Given the description of an element on the screen output the (x, y) to click on. 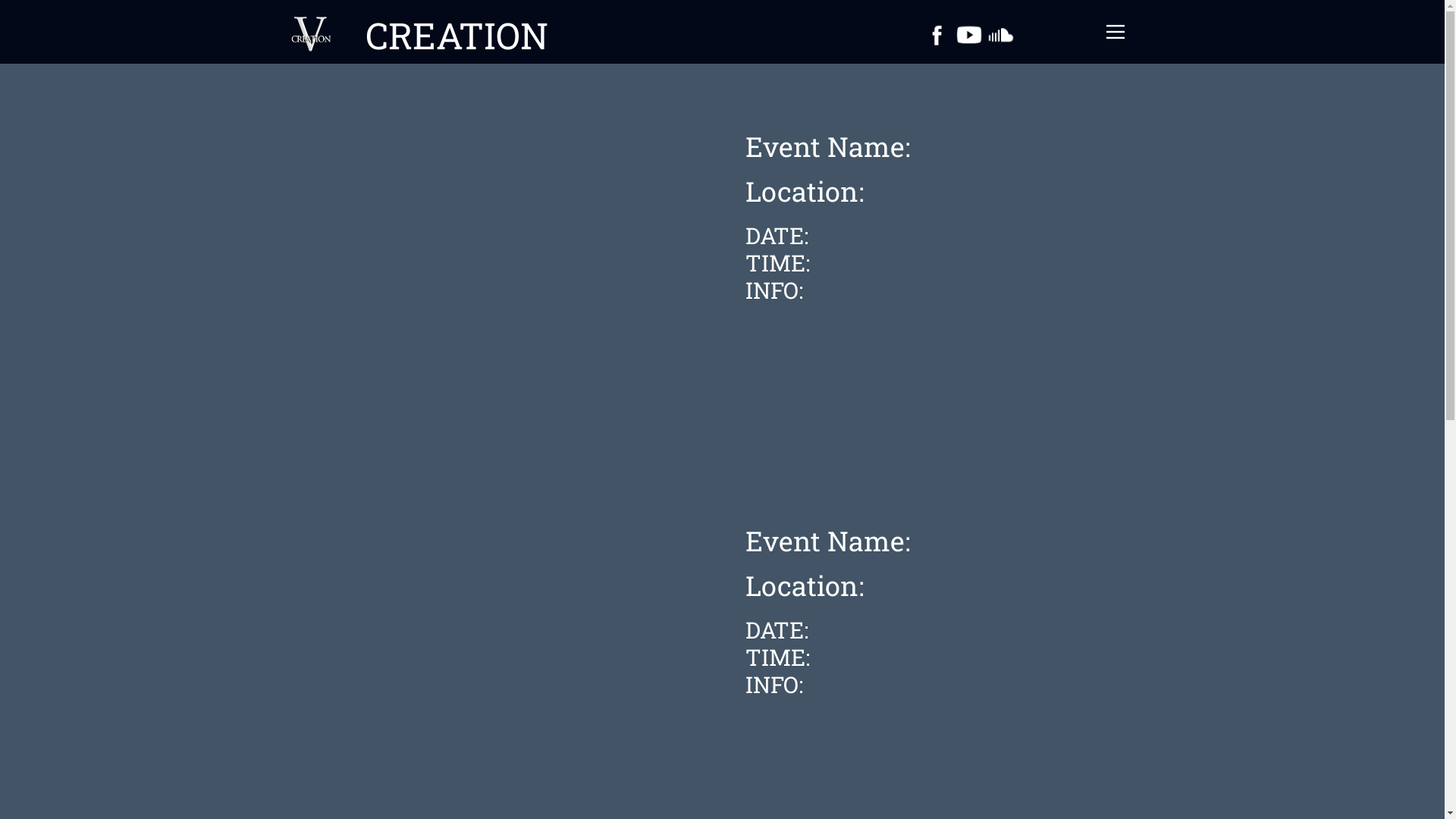
Soundcloud Element type: hover (1000, 34)
YouTube Element type: hover (969, 34)
